Given the description of an element on the screen output the (x, y) to click on. 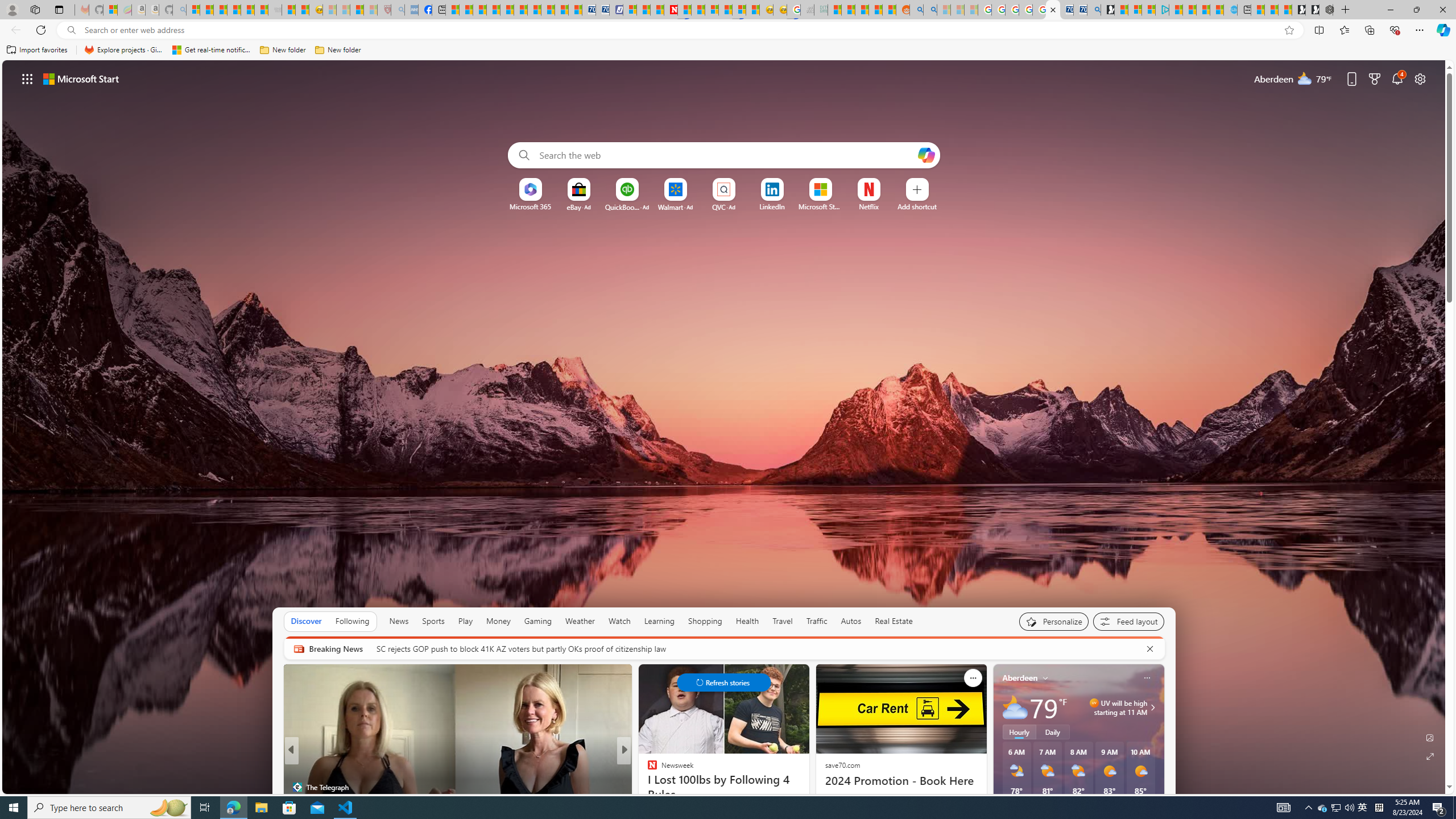
Robert H. Shmerling, MD - Harvard Health - Sleeping (384, 9)
Autos (850, 621)
Bing Real Estate - Home sales and rental listings (1093, 9)
2024 Promotion - Book Here (900, 780)
Weather (580, 621)
